Given the description of an element on the screen output the (x, y) to click on. 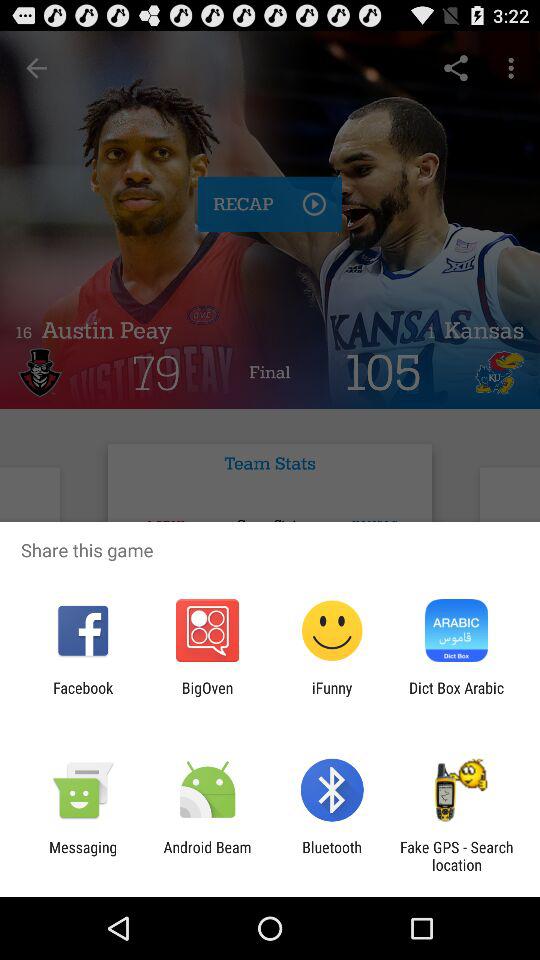
tap item next to the bigoven icon (332, 696)
